Given the description of an element on the screen output the (x, y) to click on. 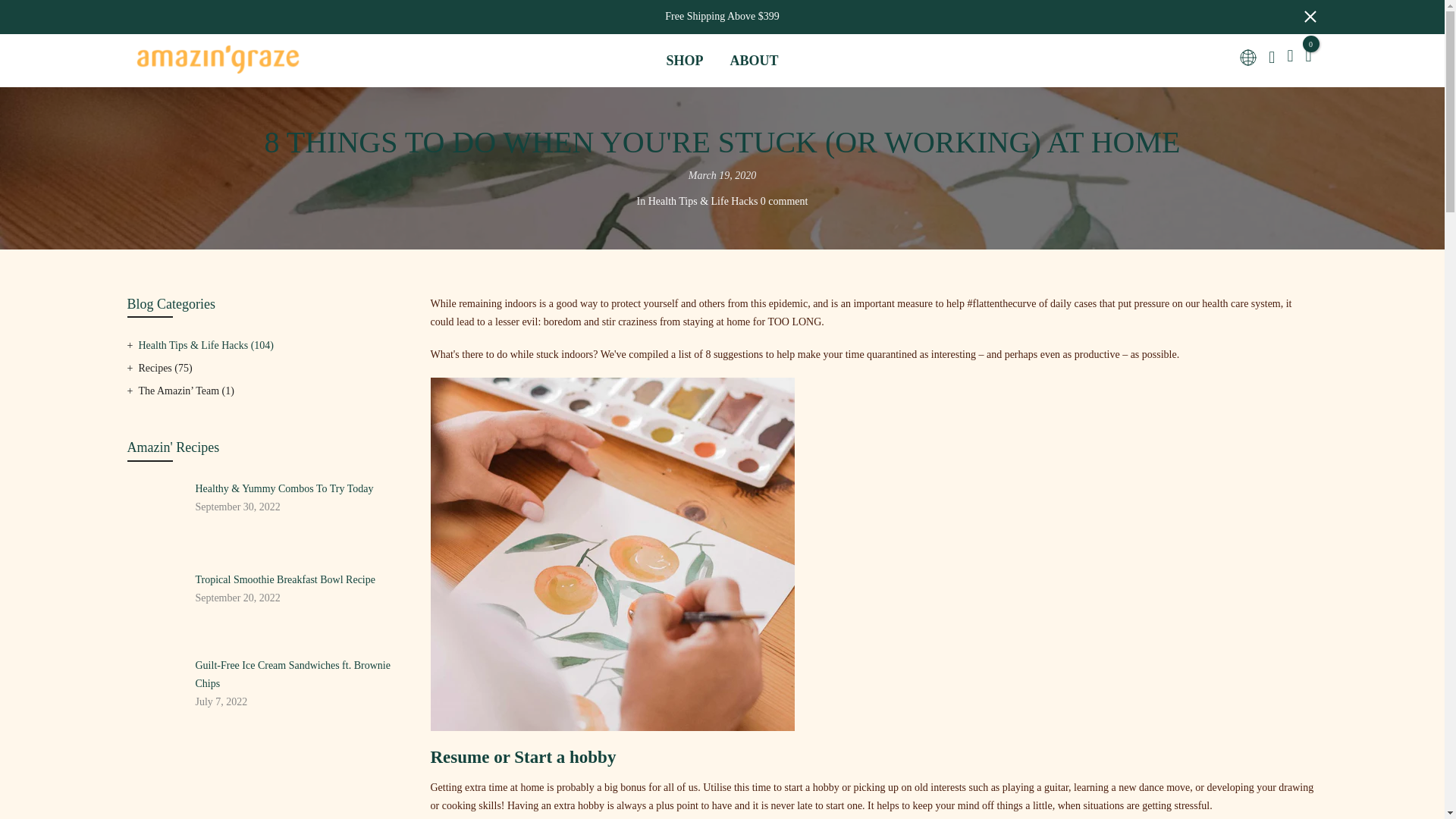
ABOUT (754, 59)
SHOP (684, 59)
